Given the description of an element on the screen output the (x, y) to click on. 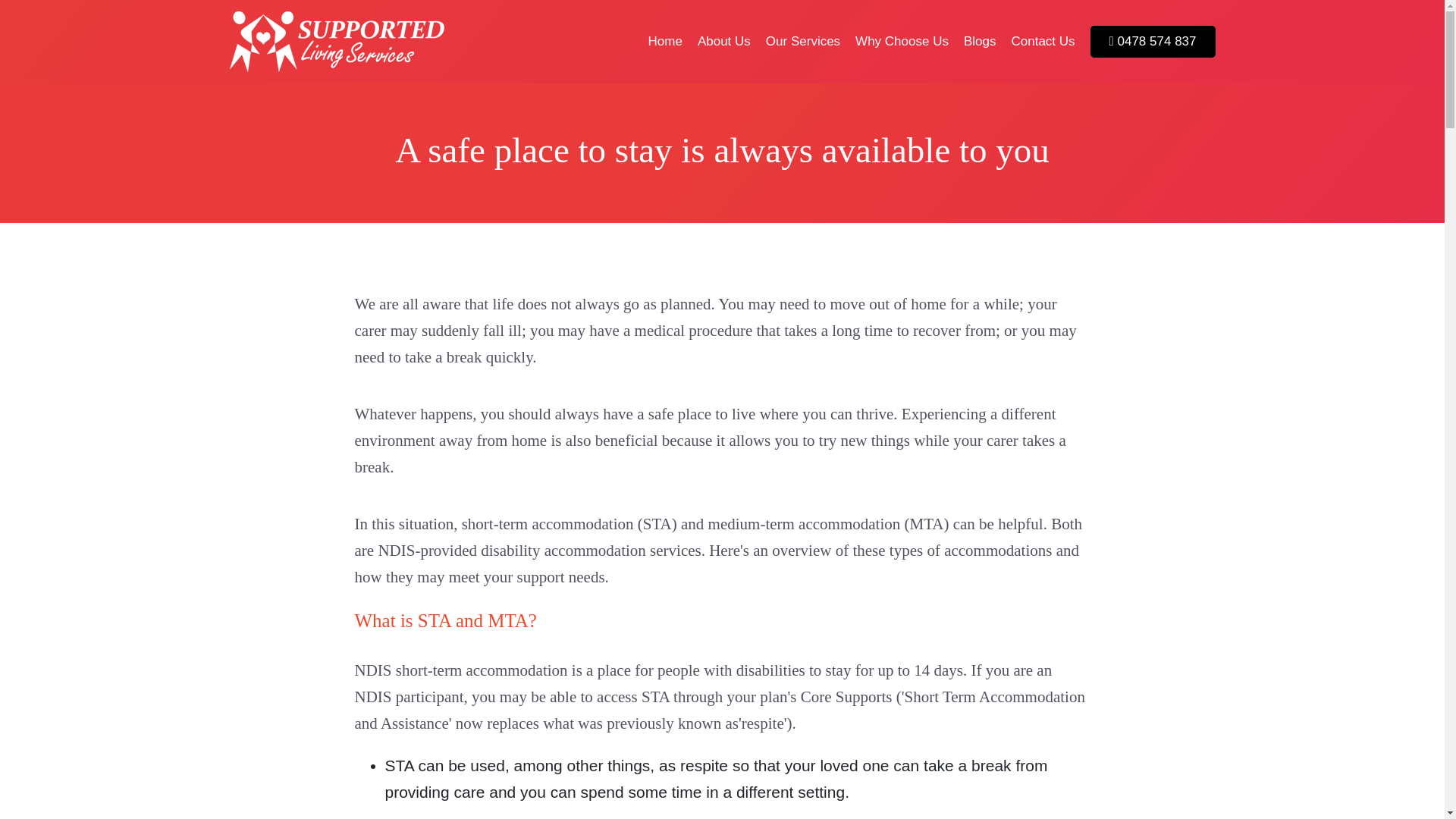
0478 574 837 (1152, 41)
Contact Us (1042, 41)
Blogs (979, 41)
About Us (724, 41)
Our Services (802, 41)
Home (664, 41)
Why Choose Us (902, 41)
